Given the description of an element on the screen output the (x, y) to click on. 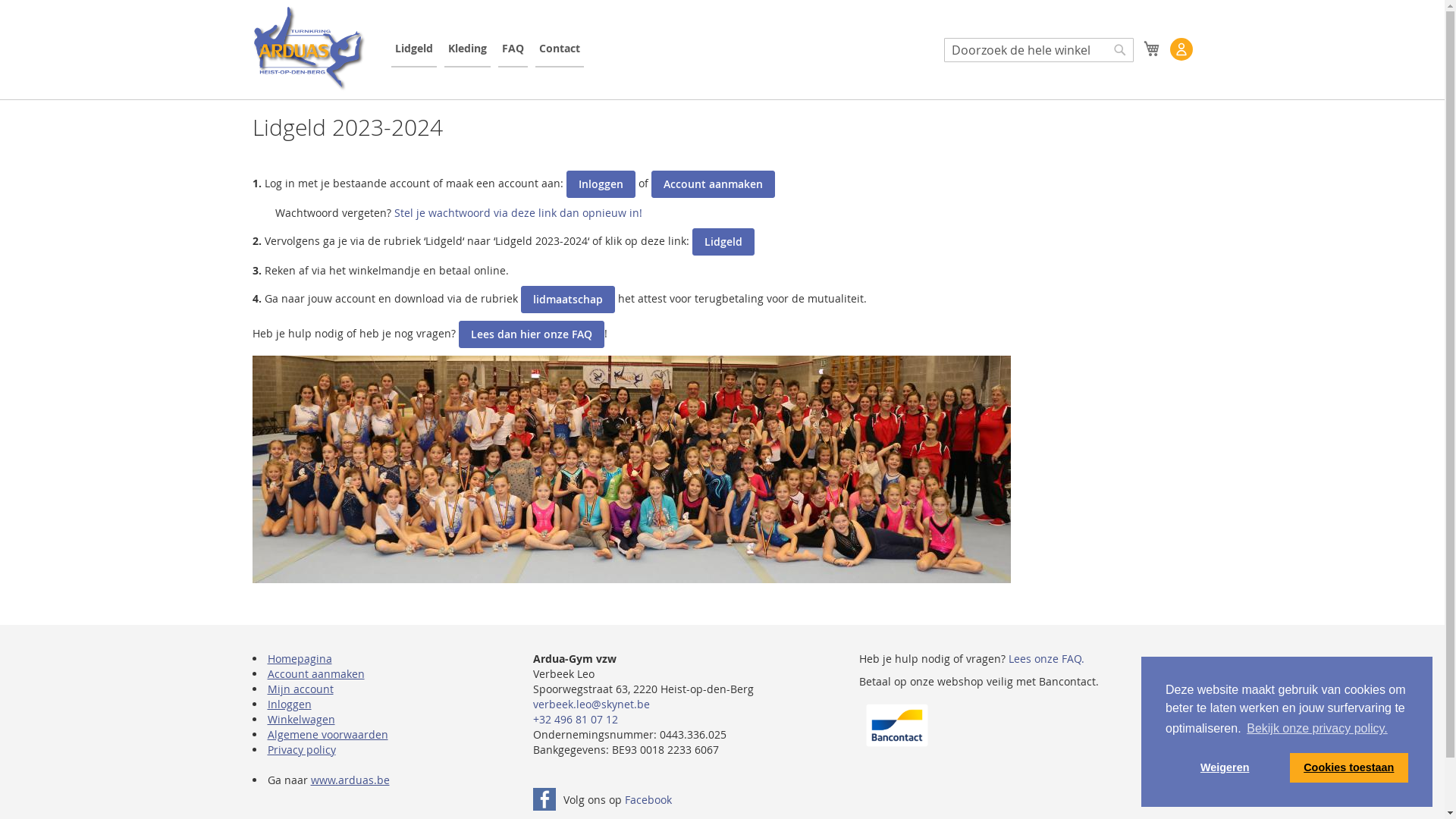
Search Element type: text (1119, 49)
Inloggen Element type: text (288, 703)
Lees onze FAQ. Element type: text (1046, 658)
Lees dan hier onze FAQ Element type: text (530, 334)
Stel je wachtwoord via deze link dan opnieuw in! Element type: text (518, 212)
www.arduas.be Element type: text (349, 779)
Winkelwagen Element type: text (1151, 48)
Facebook Element type: text (647, 799)
FAQ Element type: text (512, 48)
Adruas Webshop Element type: hover (308, 48)
Contact Element type: text (559, 48)
Mijn account Element type: text (299, 688)
Homepagina Element type: text (298, 658)
Cookies toestaan Element type: text (1348, 767)
lidmaatschap Element type: text (567, 299)
Privacy policy Element type: text (300, 749)
Inloggen Element type: text (599, 183)
Account aanmaken Element type: text (315, 673)
Winkelwagen Element type: text (300, 719)
Bekijk onze privacy policy. Element type: text (1317, 728)
Algemene voorwaarden Element type: text (326, 734)
Kleding Element type: text (467, 48)
verbeek.leo@skynet.be Element type: text (591, 703)
Weigeren Element type: text (1224, 767)
Lidgeld Element type: text (722, 241)
Account aanmaken Element type: text (712, 183)
+32 496 81 07 12 Element type: text (575, 719)
Lidgeld Element type: text (413, 48)
